Given the description of an element on the screen output the (x, y) to click on. 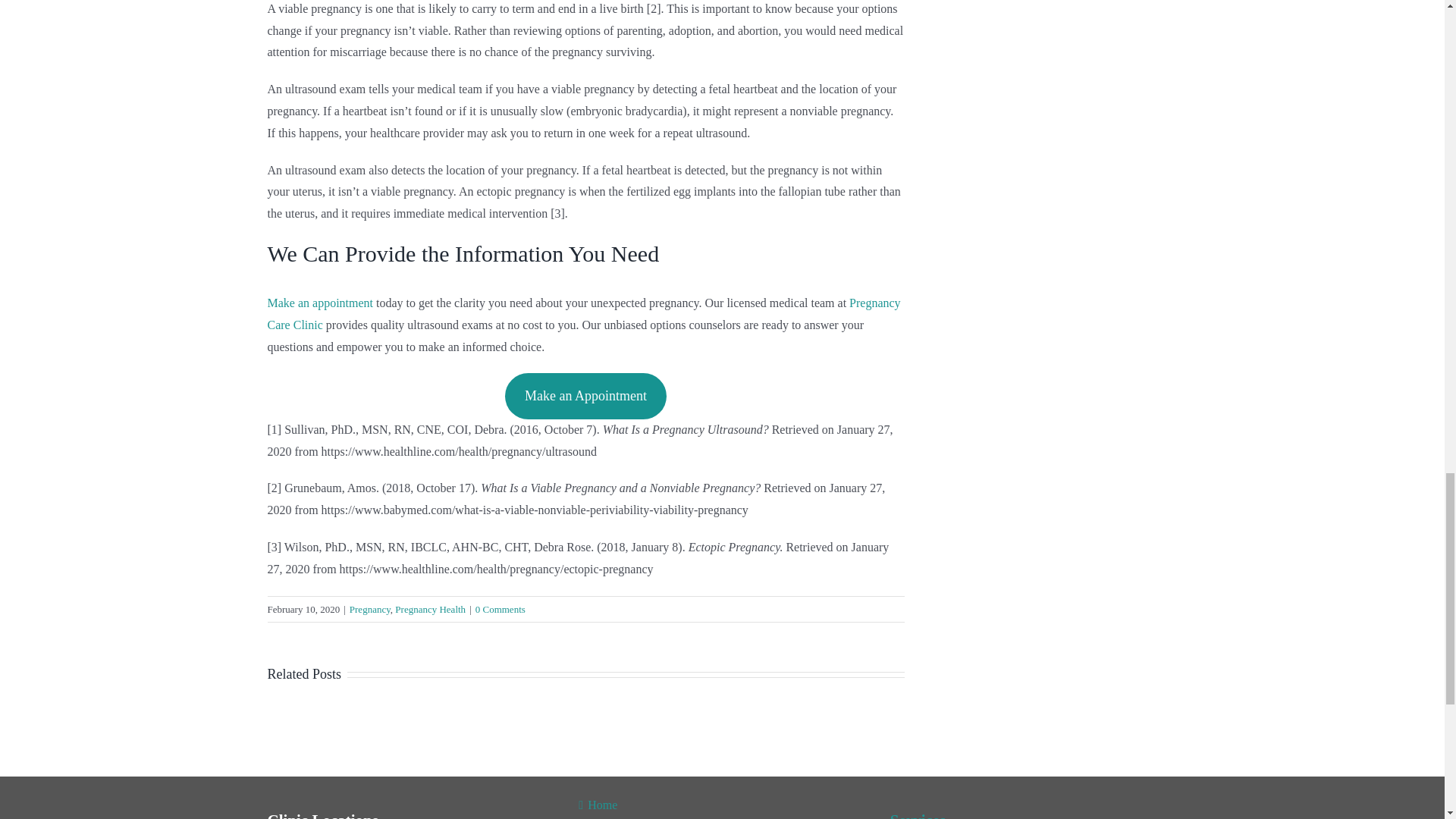
Make an Appointment (585, 395)
Make an appointment (319, 302)
Pregnancy Health (429, 609)
0 Comments (500, 609)
Pregnancy (369, 609)
Pregnancy Care Clinic (582, 313)
